Given the description of an element on the screen output the (x, y) to click on. 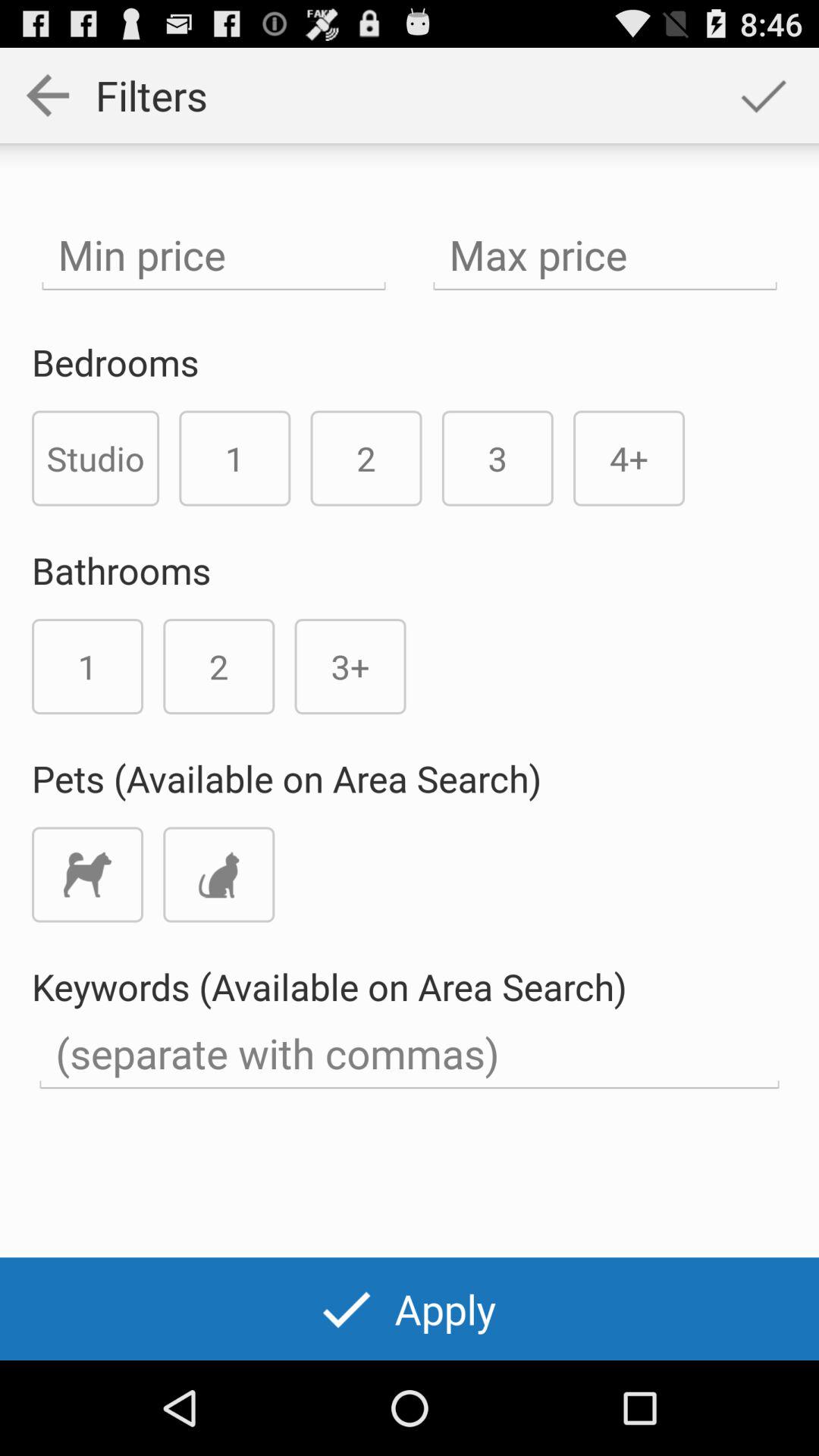
click the app to the right of the filters app (763, 95)
